Given the description of an element on the screen output the (x, y) to click on. 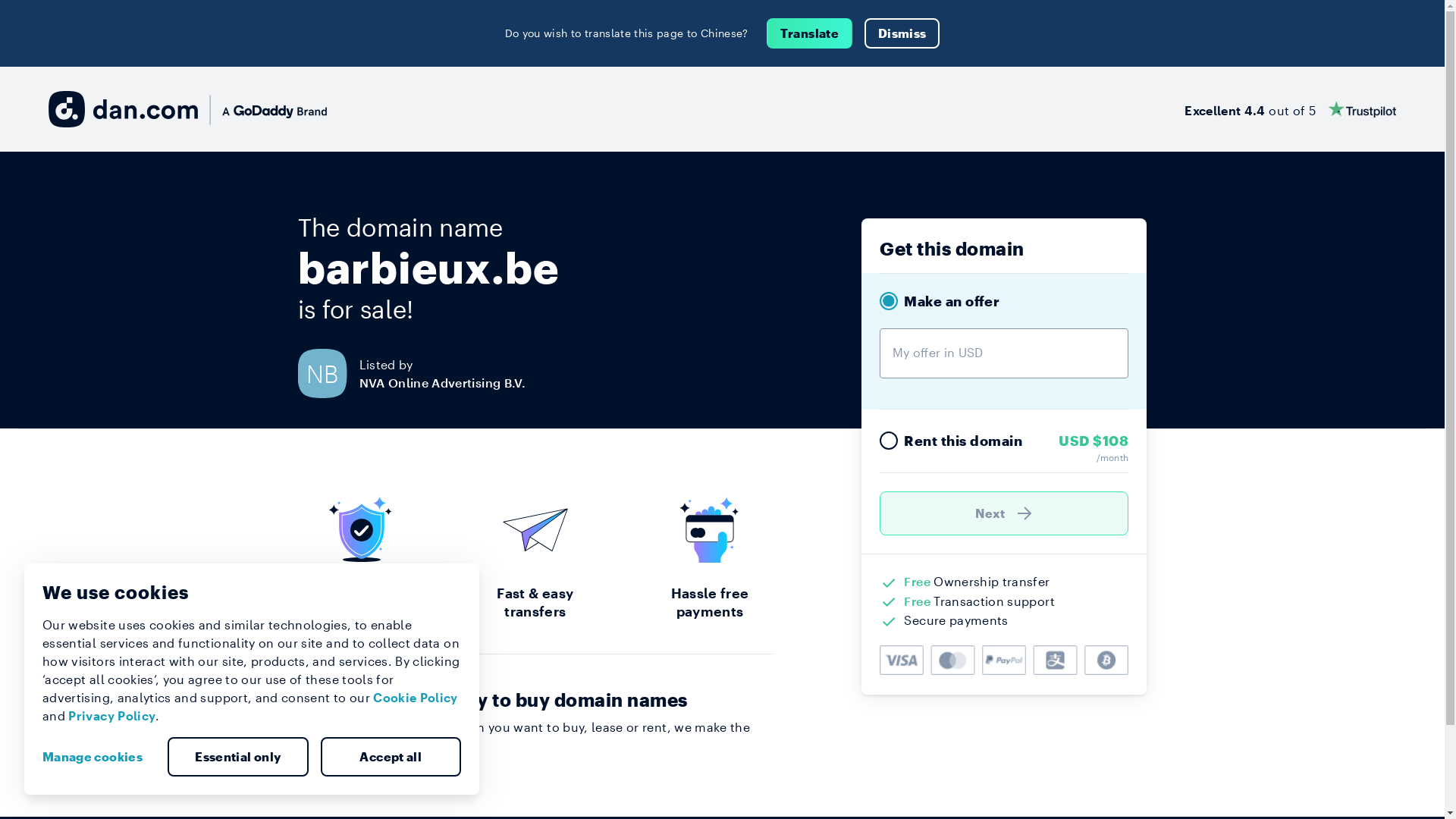
Translate Element type: text (809, 33)
Essential only Element type: text (237, 756)
Excellent 4.4 out of 5 Element type: text (1290, 109)
Manage cookies Element type: text (98, 756)
Next
) Element type: text (1003, 513)
Accept all Element type: text (390, 756)
Cookie Policy Element type: text (415, 697)
Privacy Policy Element type: text (111, 715)
Dismiss Element type: text (901, 33)
